Given the description of an element on the screen output the (x, y) to click on. 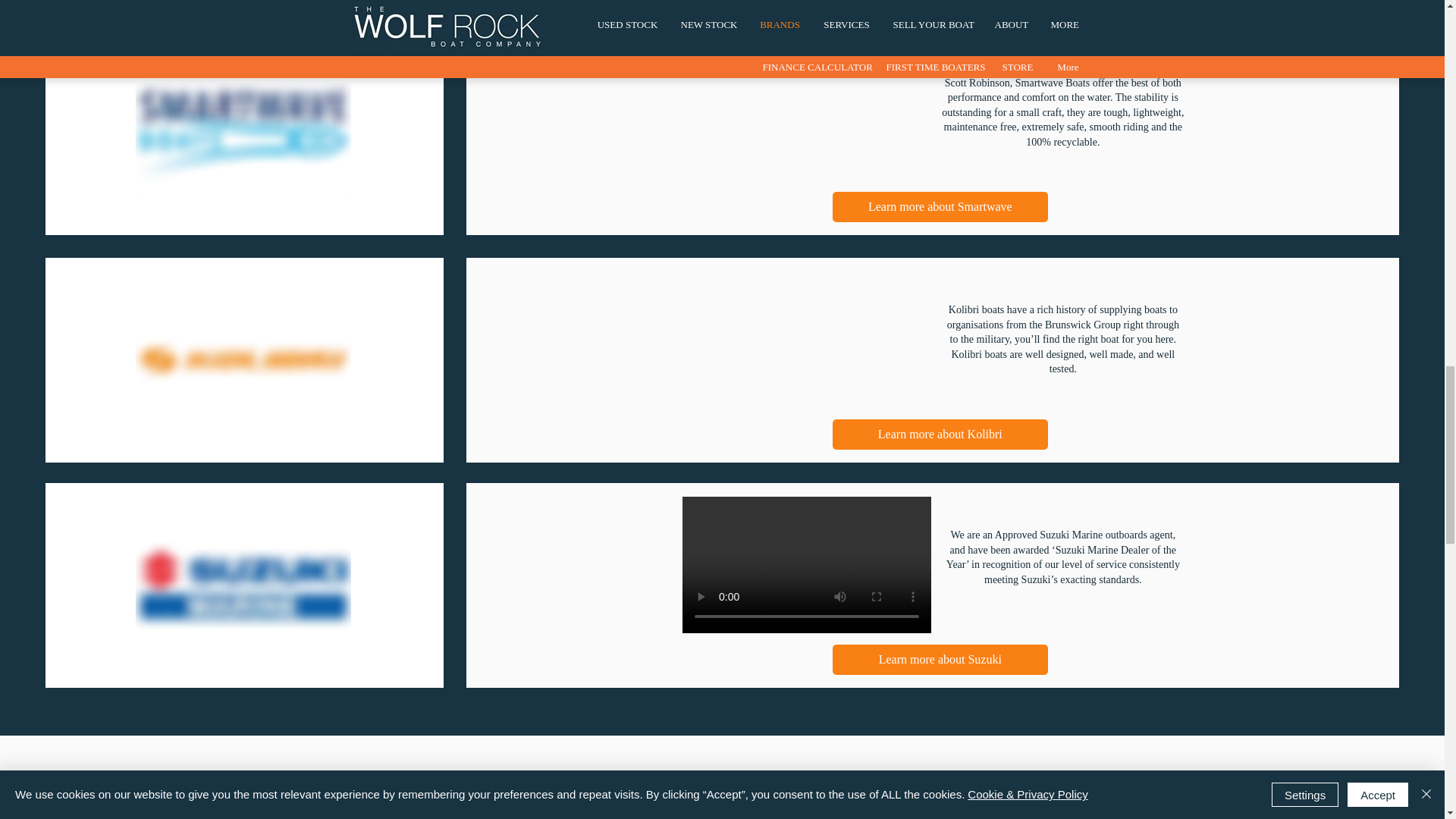
Learn more about Kolibri (940, 434)
Learn more about Suzuki (940, 659)
Learn more about Smartwave (940, 206)
